Given the description of an element on the screen output the (x, y) to click on. 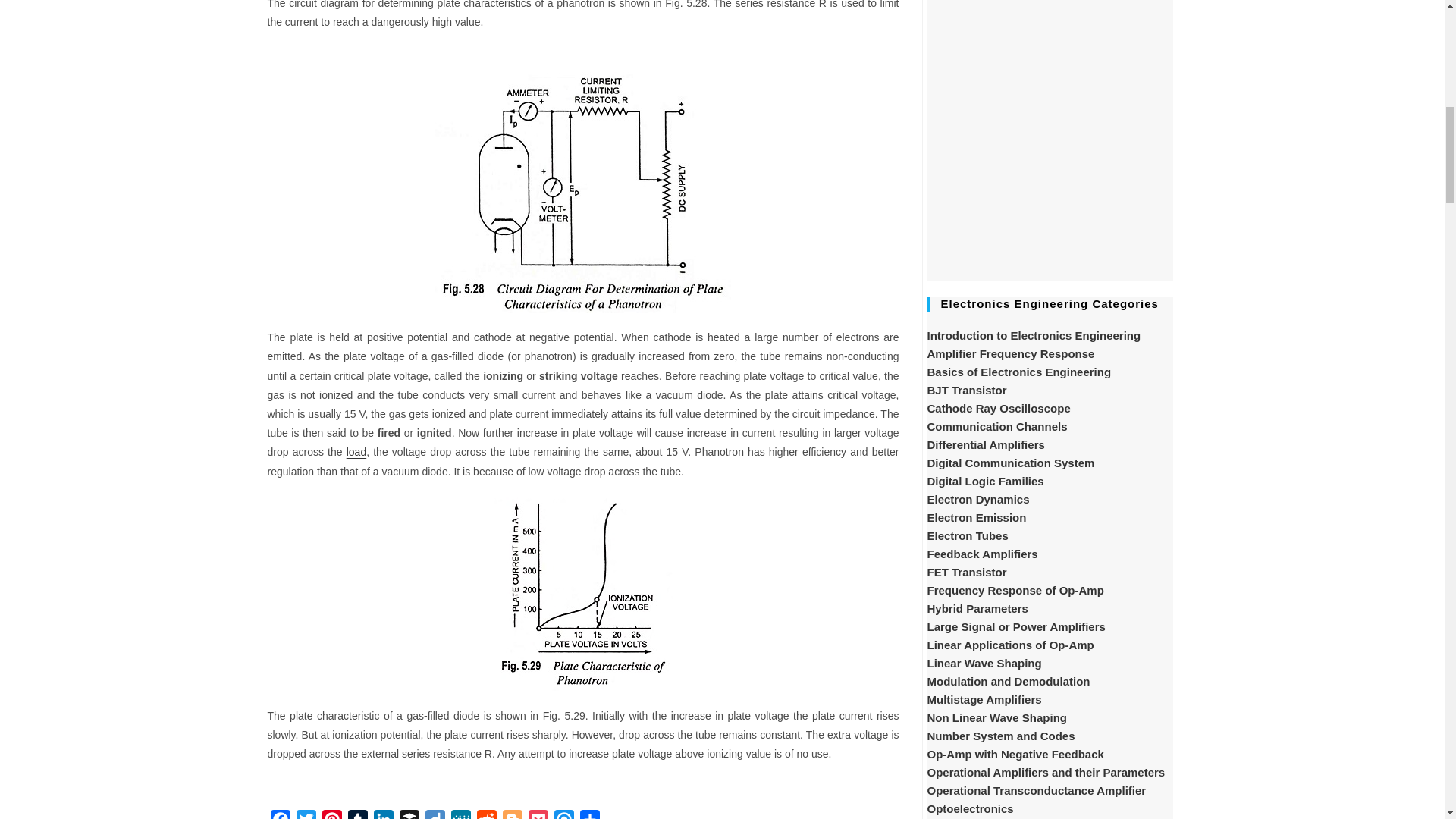
LinkedIn (382, 814)
Pocket (537, 814)
Buffer (409, 814)
Twitter (305, 814)
Reddit (486, 814)
Pinterest (330, 814)
Diigo (434, 814)
Tumblr (356, 814)
MeWe (459, 814)
Facebook (279, 814)
